Given the description of an element on the screen output the (x, y) to click on. 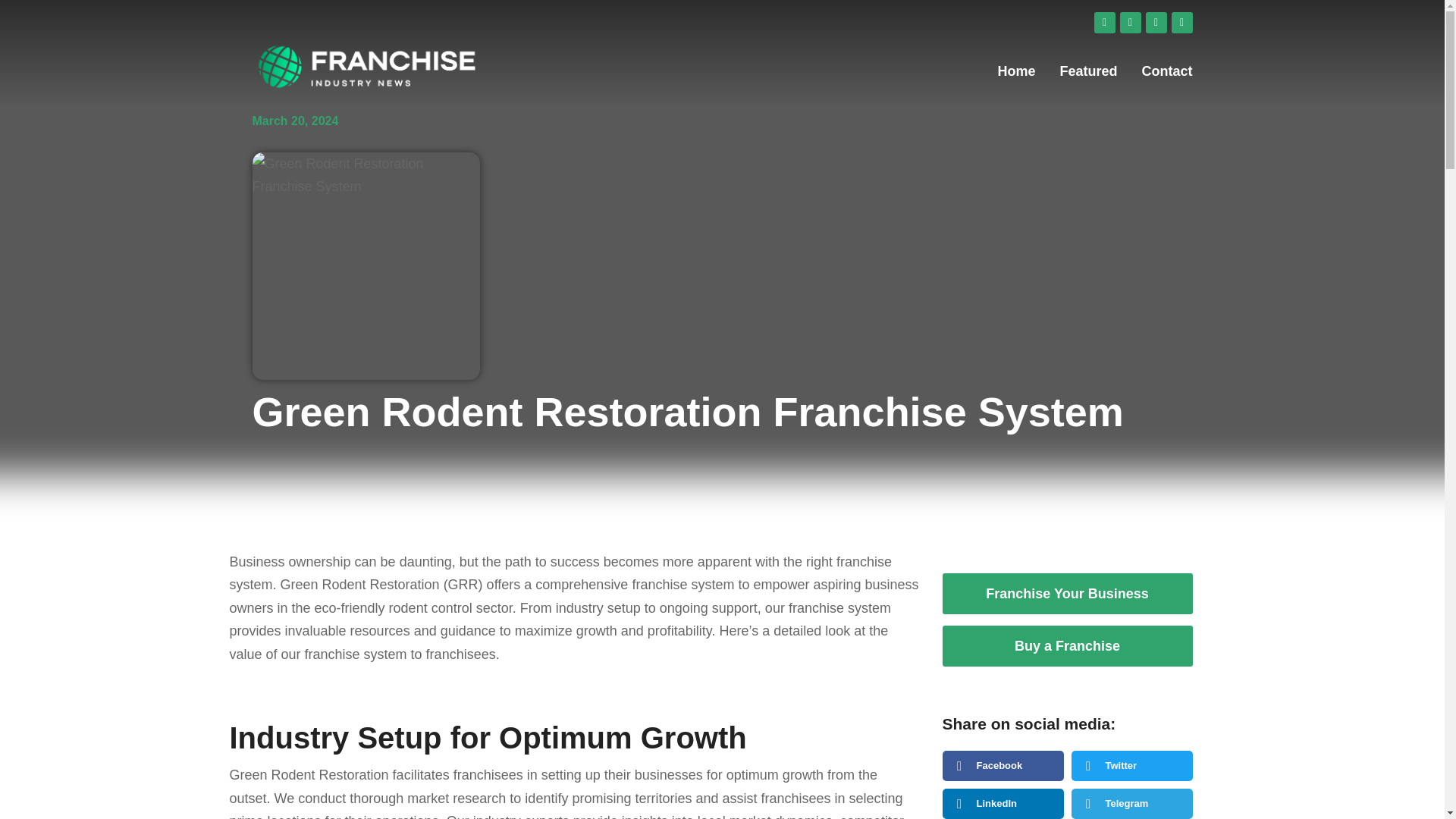
Home (1016, 71)
Franchise Your Business (1067, 593)
Contact (1166, 71)
Featured (1087, 71)
Buy a Franchise (1067, 645)
